Given the description of an element on the screen output the (x, y) to click on. 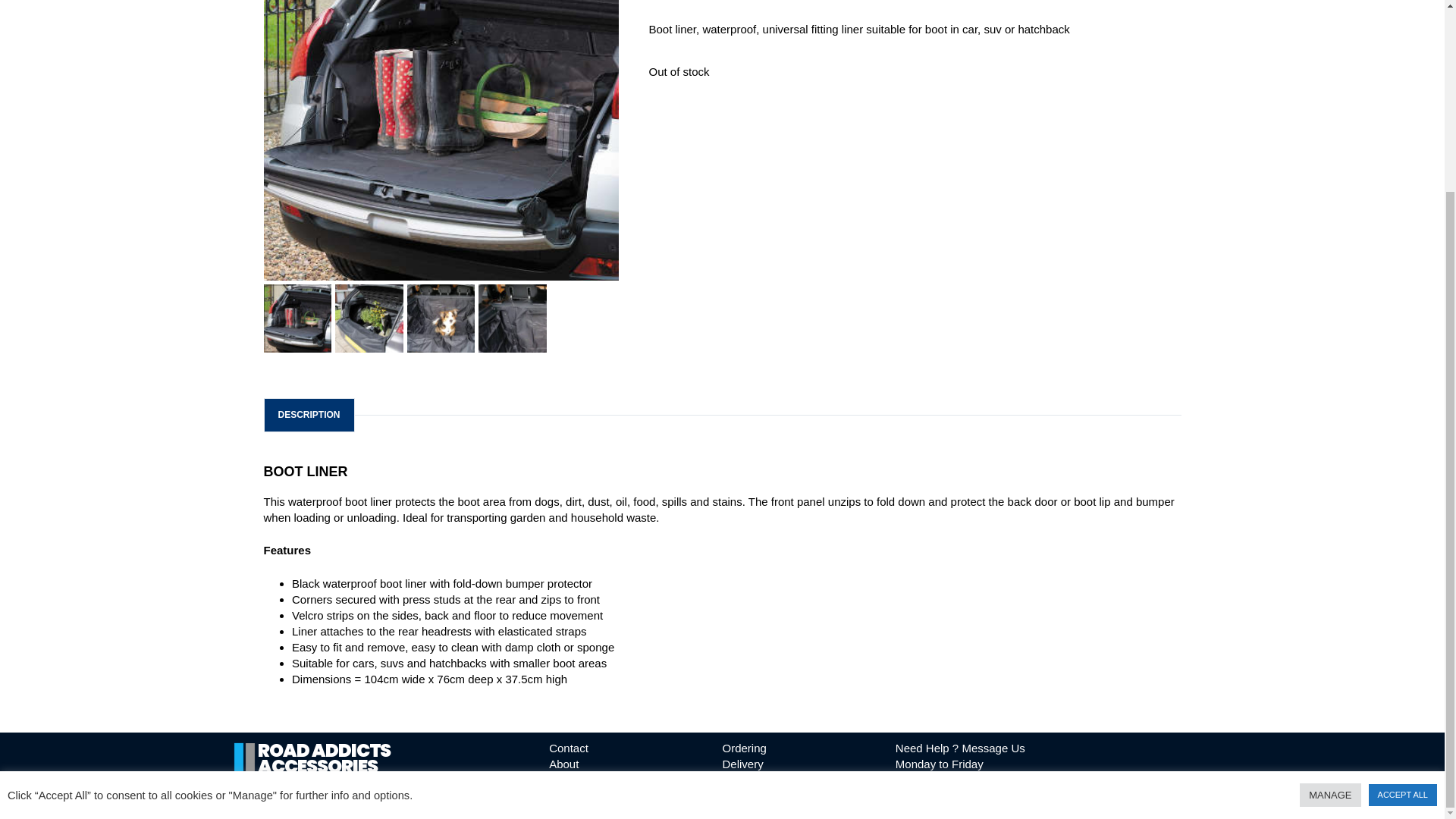
Boot Liner for SUV (297, 318)
Ordering (743, 748)
Returns (741, 779)
Boot Liner for SUV (440, 140)
Need Help ? Message Us (960, 748)
MANAGE (1329, 555)
Terms (563, 779)
ACCEPT ALL (1402, 555)
DESCRIPTION (308, 414)
About (563, 763)
